Given the description of an element on the screen output the (x, y) to click on. 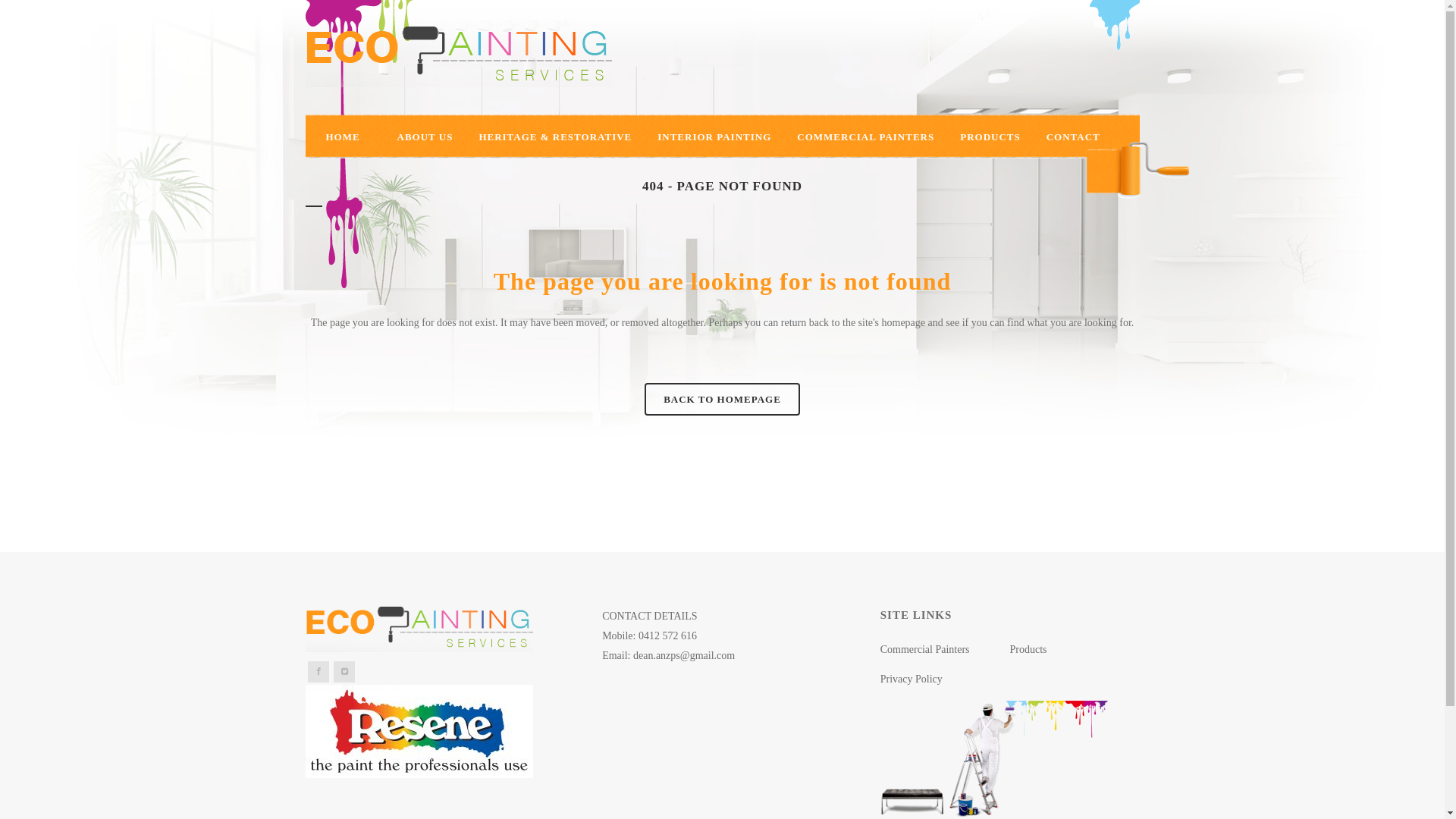
ABOUT US Element type: text (424, 136)
Commercial Painters Element type: text (945, 649)
PRODUCTS Element type: text (990, 136)
dean.anzps@gmail.com Element type: text (683, 655)
COMMERCIAL PAINTERS Element type: text (865, 136)
CONTACT Element type: text (1073, 136)
BACK TO HOMEPAGE Element type: text (722, 398)
HOME Element type: text (347, 136)
Privacy Policy Element type: text (945, 679)
INTERIOR PAINTING Element type: text (714, 136)
HERITAGE & RESTORATIVE Element type: text (554, 136)
Products Element type: text (1074, 649)
